Given the description of an element on the screen output the (x, y) to click on. 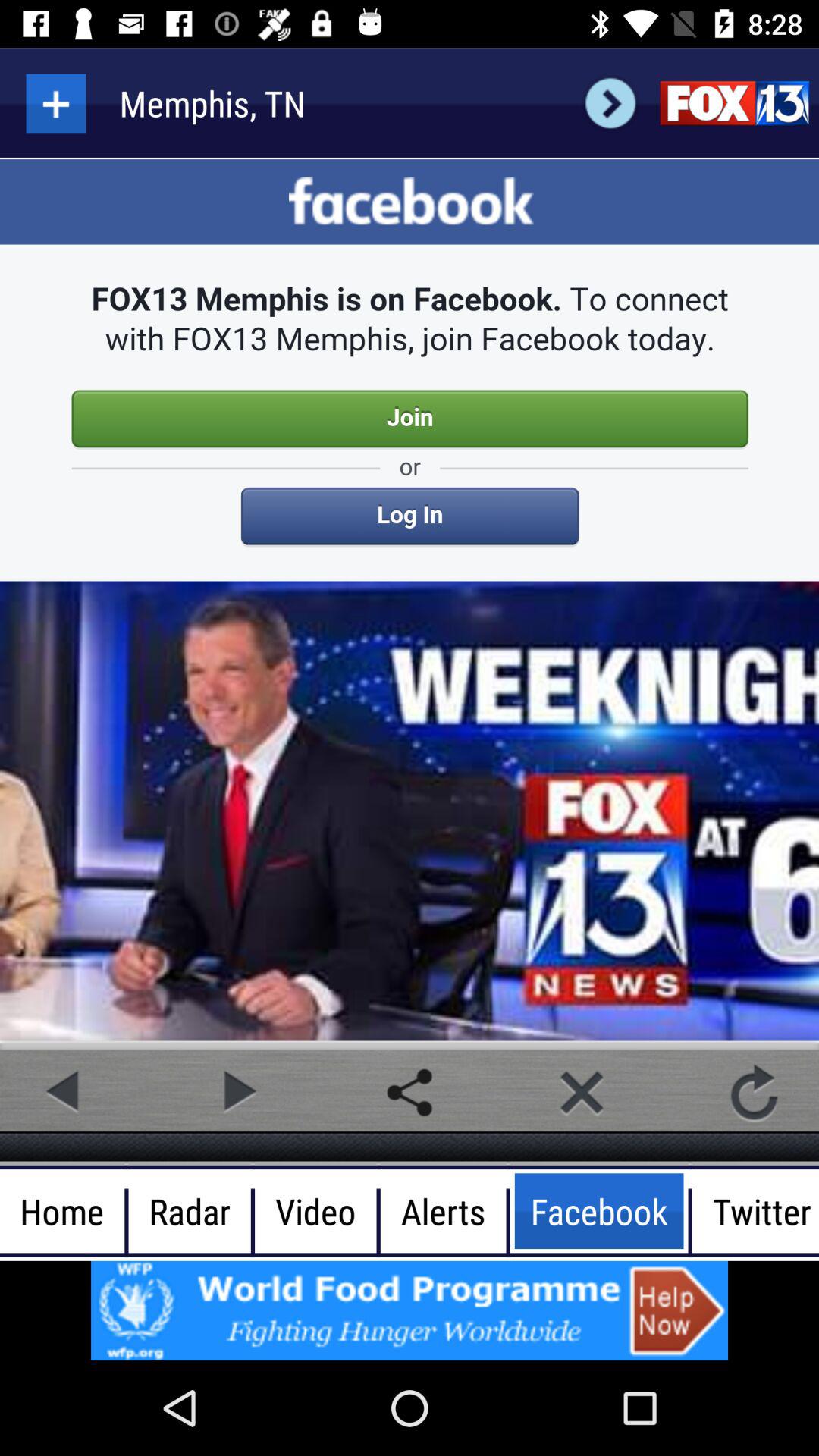
news station logo (734, 103)
